Given the description of an element on the screen output the (x, y) to click on. 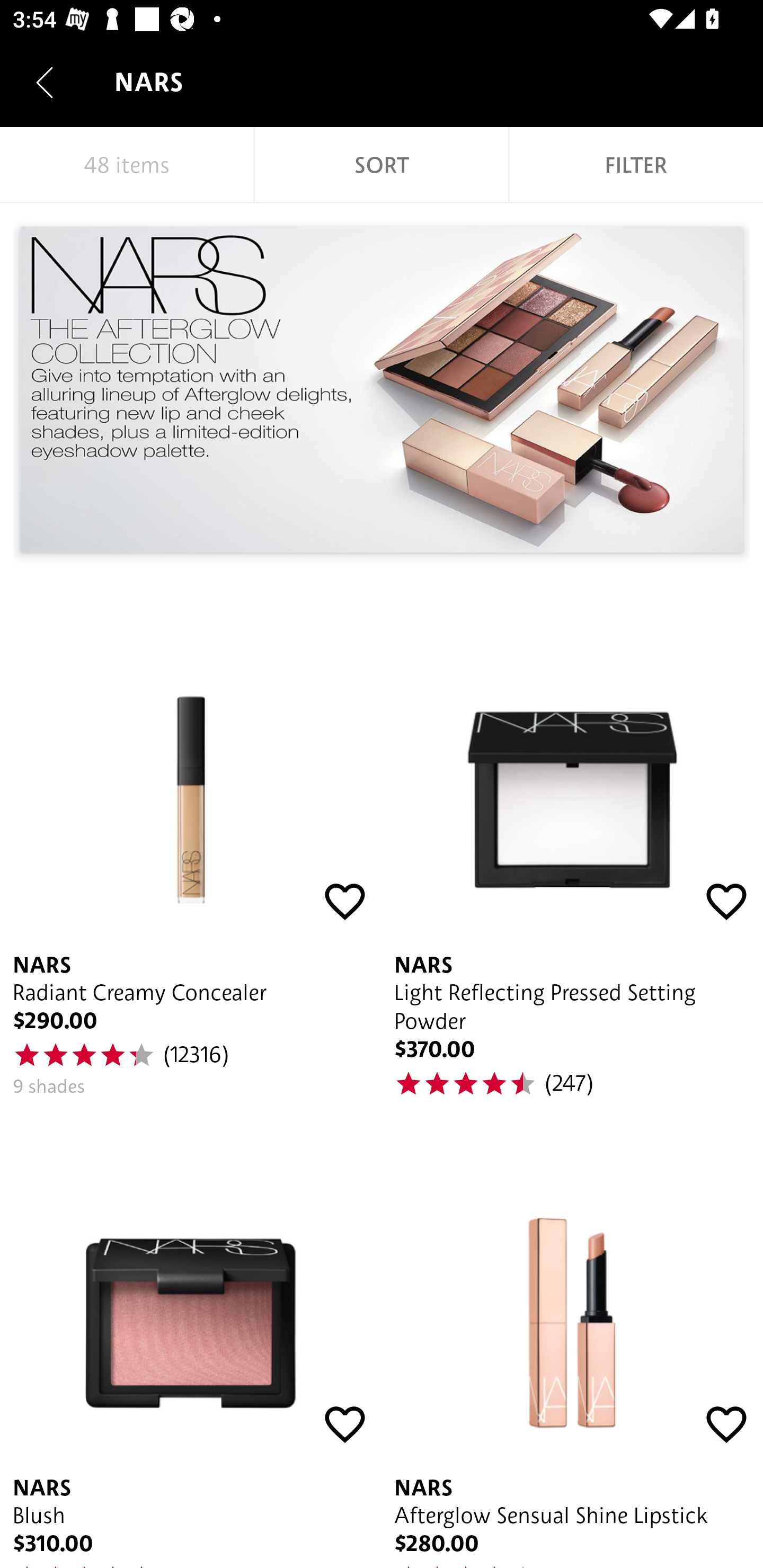
Navigate up (44, 82)
SORT (381, 165)
FILTER (636, 165)
NARS Blush $310.00 47.0 (280) (190, 1353)
